Given the description of an element on the screen output the (x, y) to click on. 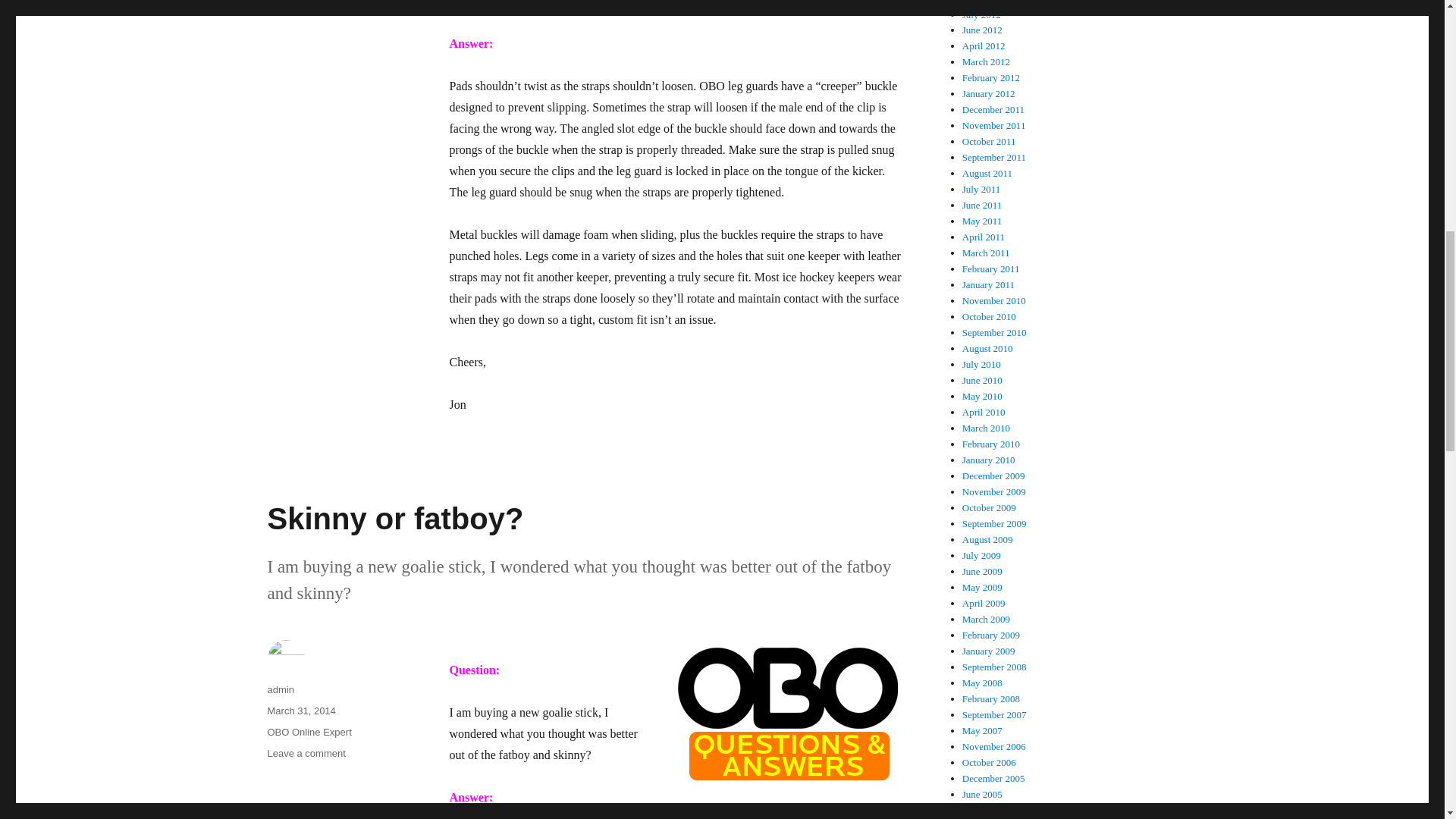
admin (305, 753)
April 2012 (280, 689)
August 2012 (984, 45)
March 31, 2014 (987, 2)
June 2012 (300, 710)
July 2012 (982, 30)
Skinny or fatboy? (981, 14)
qna (394, 518)
OBO Online Expert (787, 713)
